Given the description of an element on the screen output the (x, y) to click on. 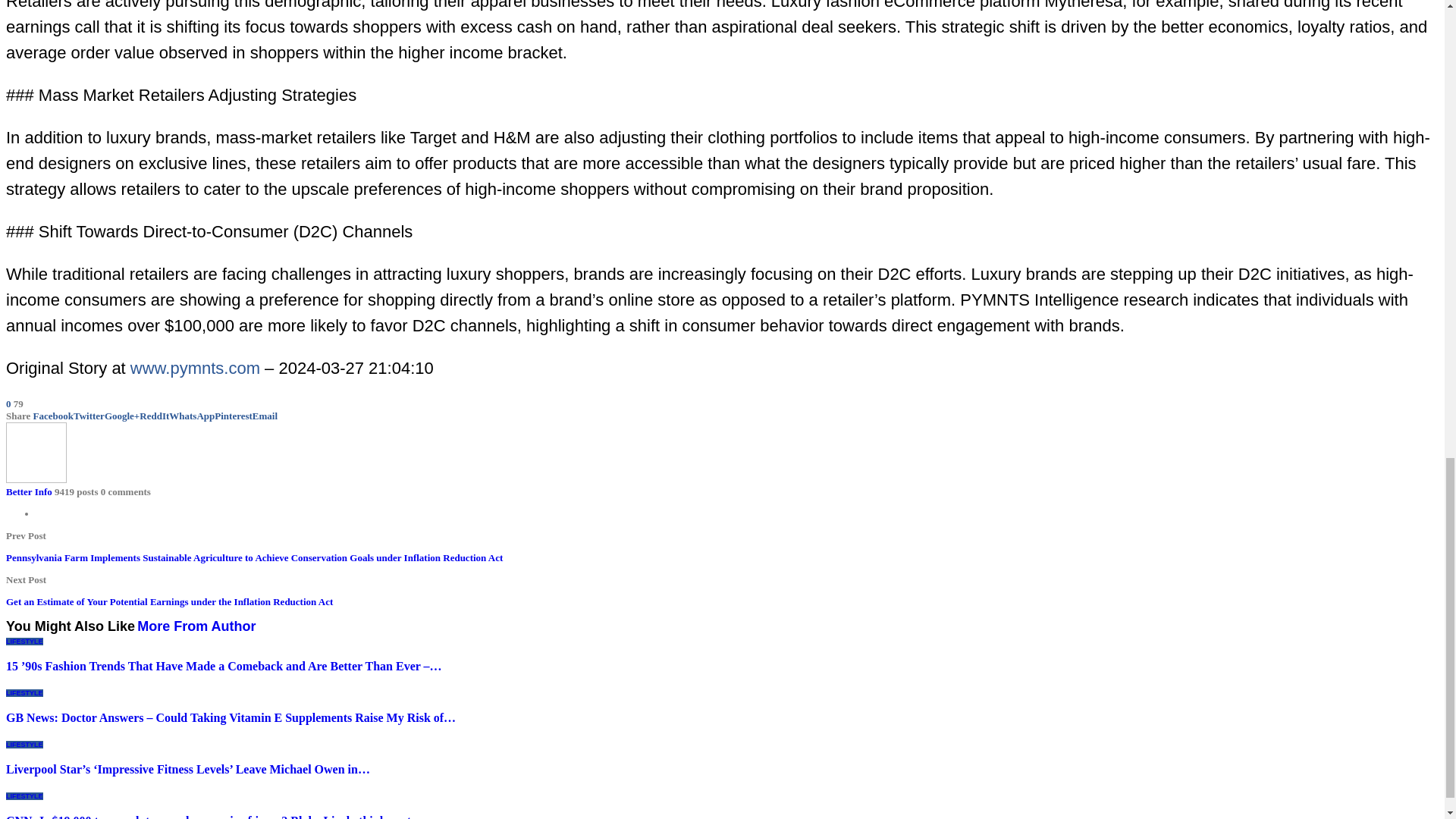
WhatsApp (191, 415)
ReddIt (153, 415)
Facebook (53, 415)
Twitter (89, 415)
Email (264, 415)
www.pymnts.com (195, 367)
Browse Author Articles (35, 479)
Pinterest (232, 415)
